Given the description of an element on the screen output the (x, y) to click on. 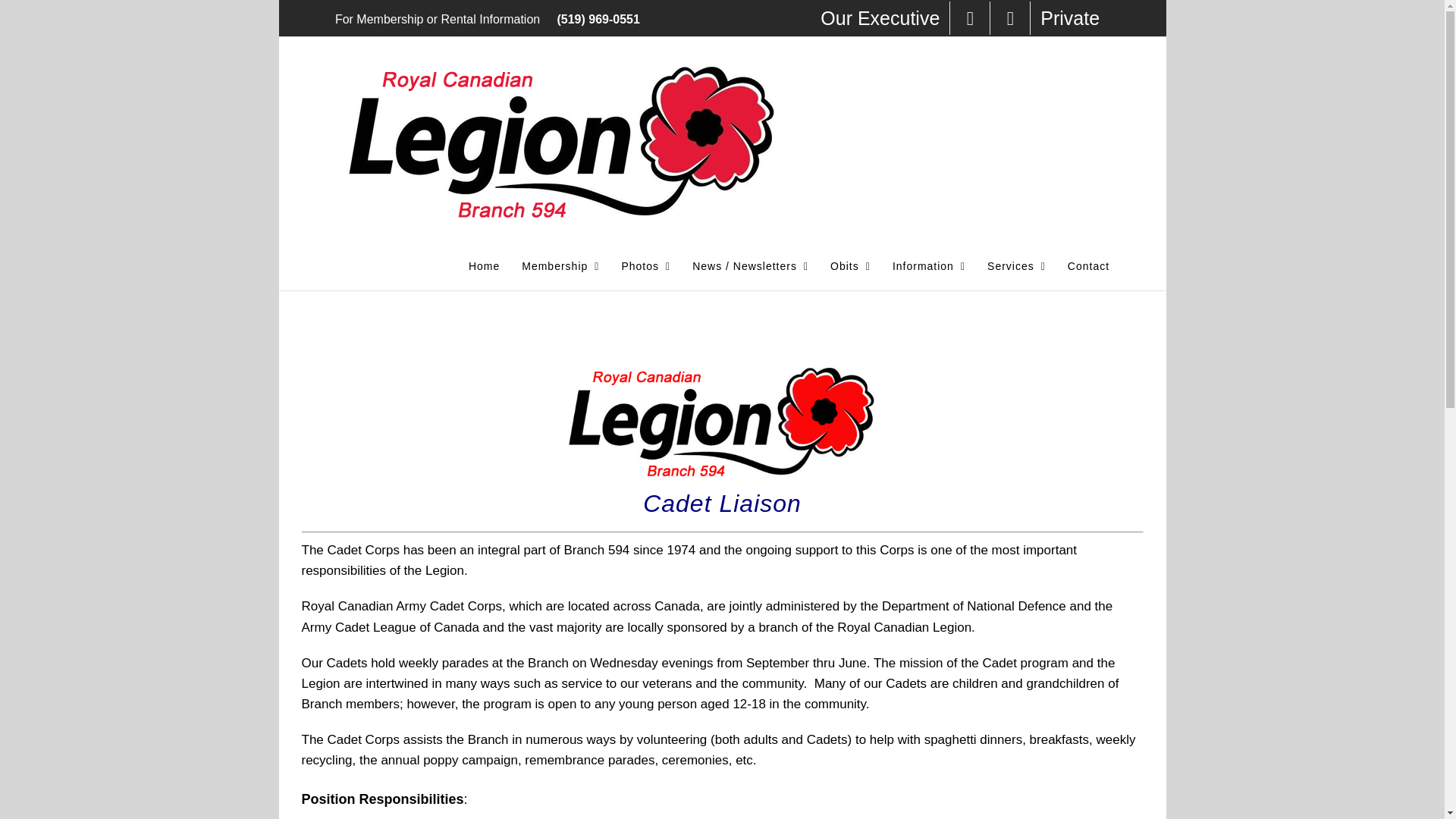
Obits (849, 265)
Contact (1088, 265)
Our Executive (879, 18)
Photos (645, 265)
Information (928, 265)
Private (1069, 18)
Home (483, 265)
Membership (559, 265)
Services (1016, 265)
